Given the description of an element on the screen output the (x, y) to click on. 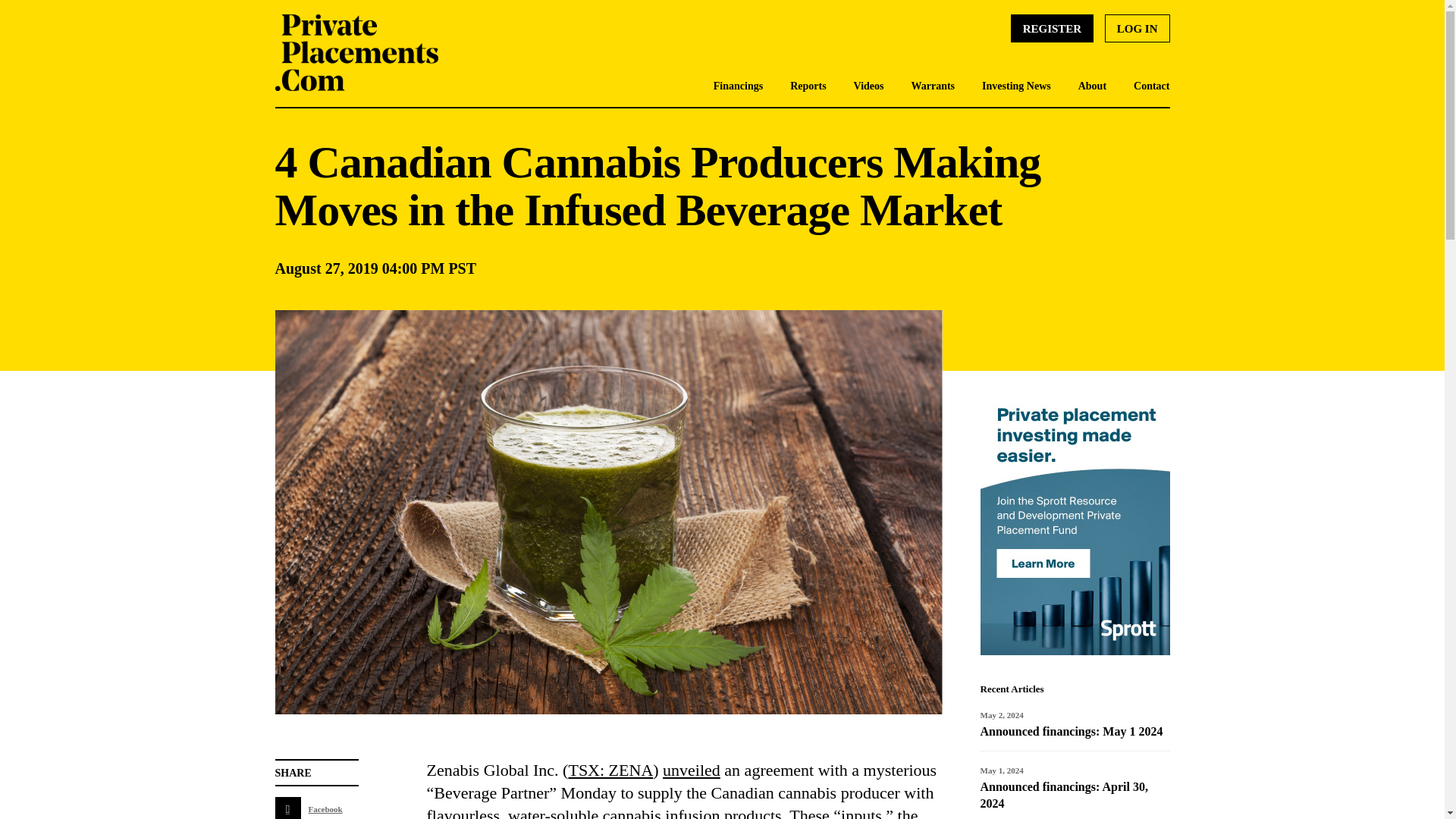
Videos (868, 85)
Contact (1151, 85)
unveiled (691, 769)
LOG IN (1137, 28)
Facebook (316, 807)
About (1092, 85)
Financings (737, 85)
Investing News (1016, 85)
TSX: ZENA (609, 769)
Warrants (933, 85)
